Given the description of an element on the screen output the (x, y) to click on. 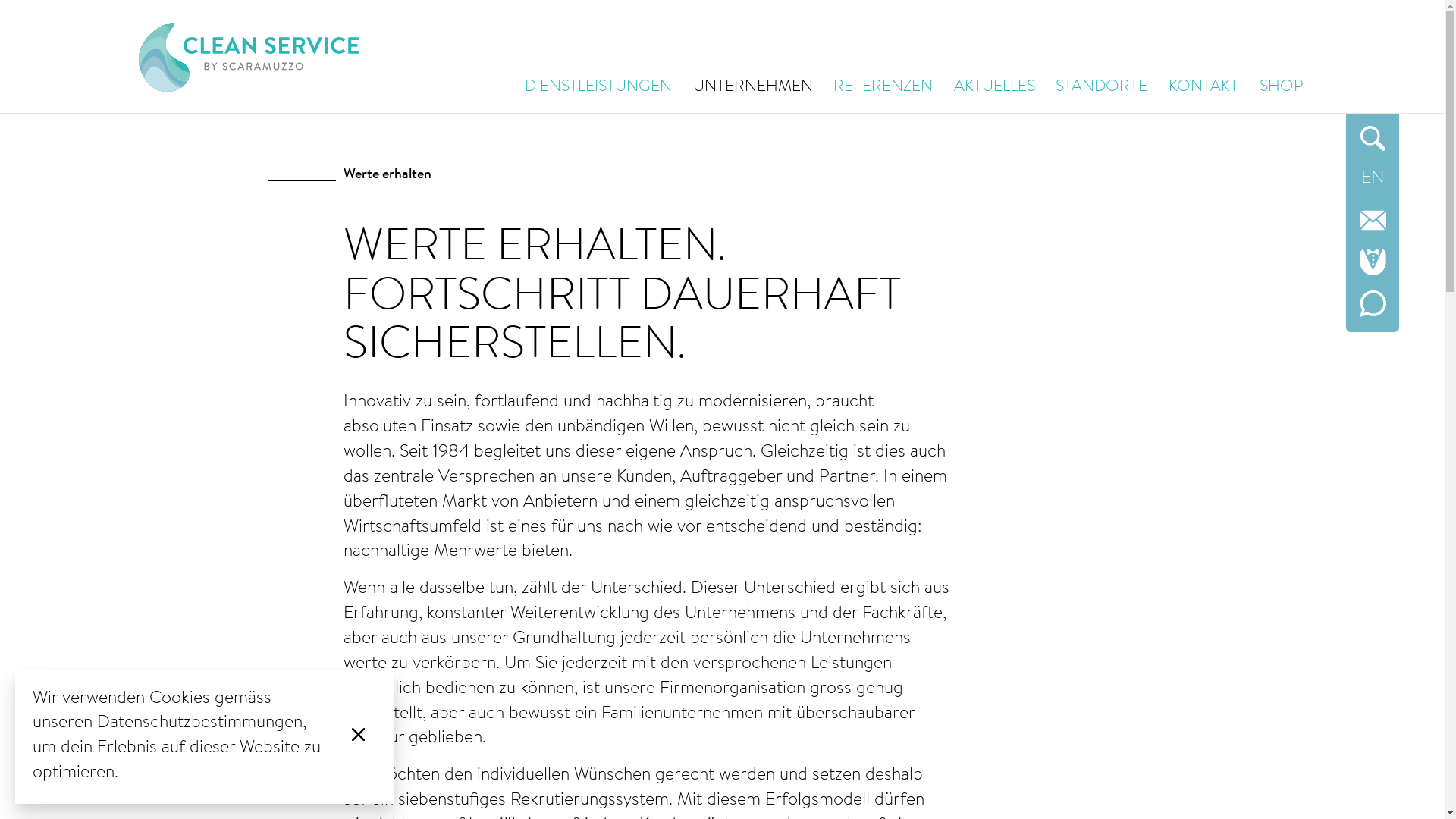
EN Element type: text (1372, 178)
UNTERNEHMEN Element type: text (752, 93)
KONTAKT Element type: text (1203, 93)
REFERENZEN Element type: text (882, 93)
DIENSTLEISTUNGEN Element type: text (597, 93)
AKTUELLES Element type: text (994, 93)
Concierge Element type: text (1371, 261)
WhatsApp Element type: text (1371, 303)
Datenschutzbestimmungen Element type: text (199, 722)
STANDORTE Element type: text (1101, 93)
Kontakt Element type: text (1371, 220)
Suche Element type: text (1372, 138)
Schliessen Element type: text (357, 736)
SHOP Element type: text (1280, 93)
